Given the description of an element on the screen output the (x, y) to click on. 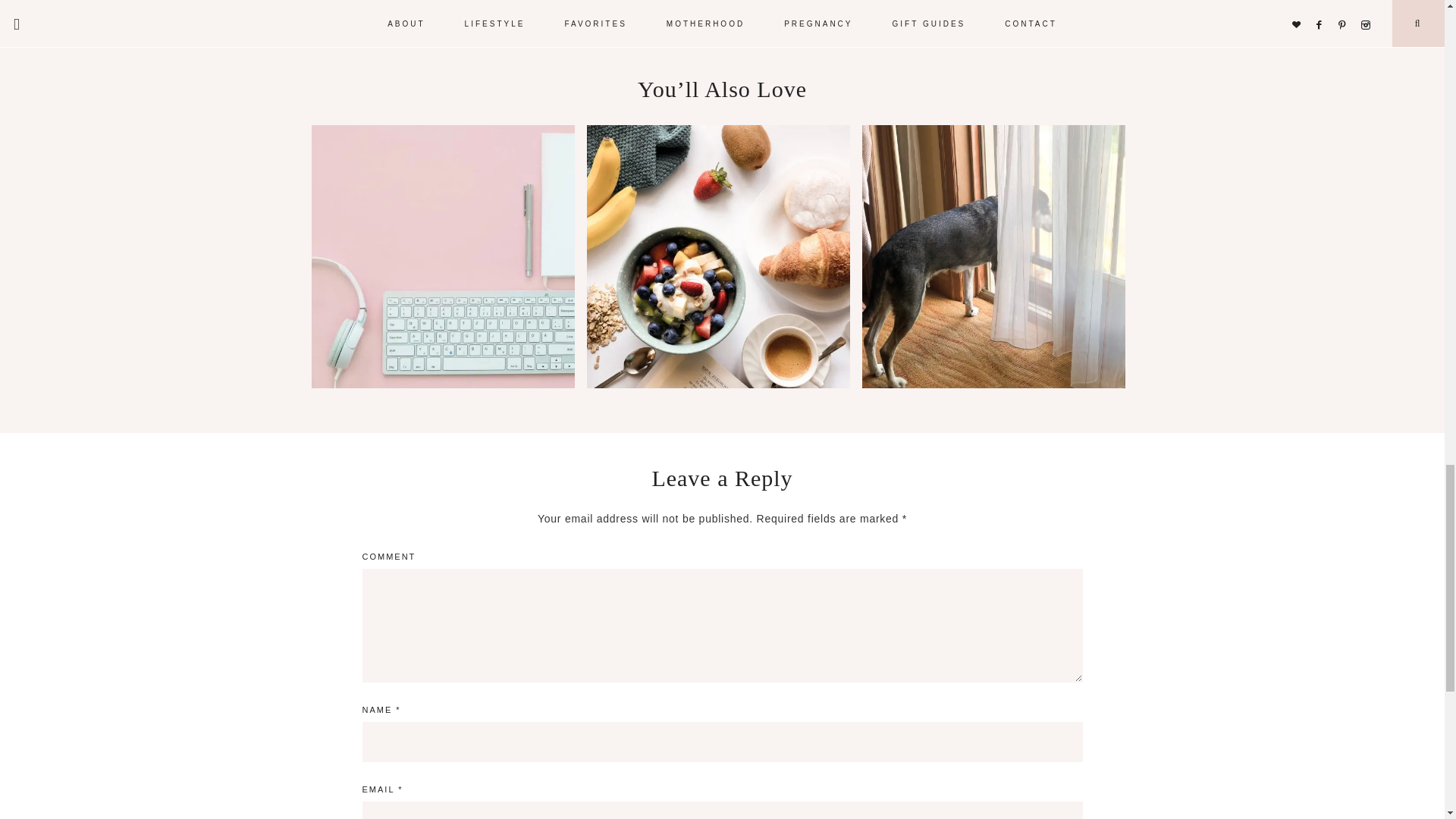
Permanent Link to Trying to Conceive on a Vegan Diet? (718, 384)
LIFESTYLE (677, 1)
Permanent Link to Working From Home: The New Normal (442, 384)
